Given the description of an element on the screen output the (x, y) to click on. 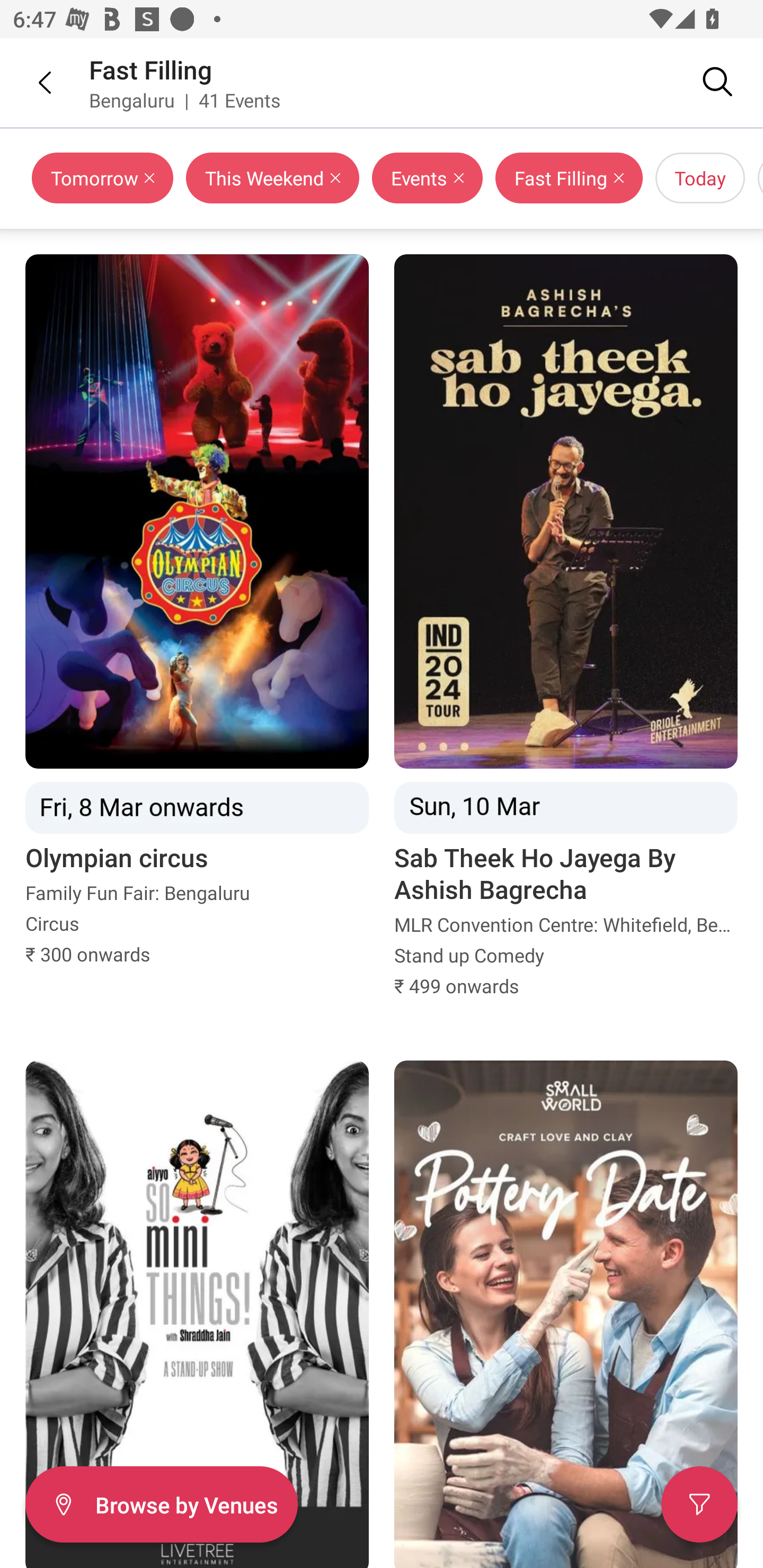
Back (31, 82)
Fast Filling (150, 68)
Bengaluru  |  41 Events (185, 99)
Tomorrow Close (102, 177)
This Weekend Close (272, 177)
Events Close (427, 177)
Fast Filling Close (568, 177)
Today (699, 177)
Filter Browse by Venues (161, 1504)
Filter (699, 1504)
